Given the description of an element on the screen output the (x, y) to click on. 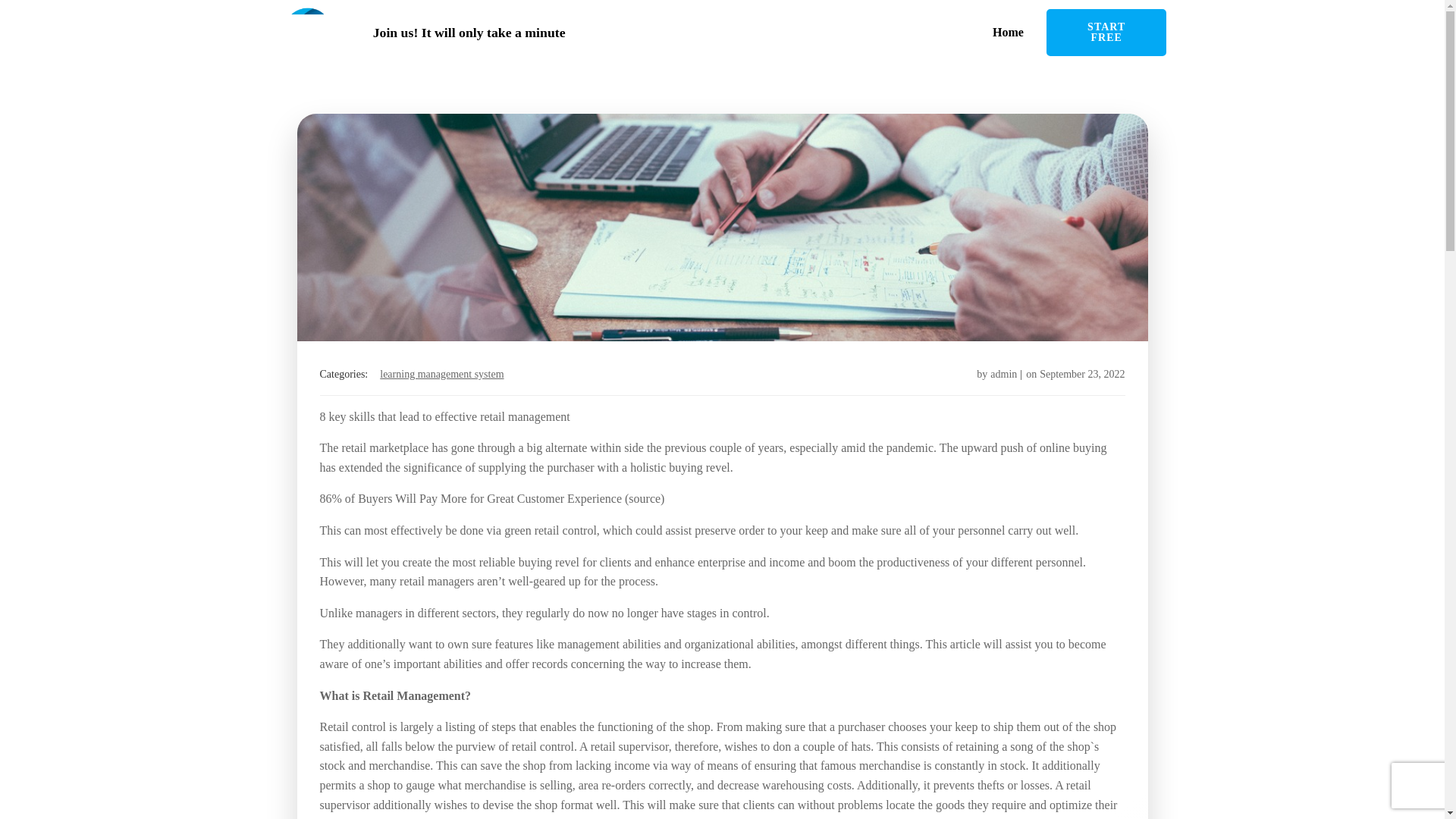
learning management system (441, 374)
admin (1003, 374)
Home (1001, 32)
September 23, 2022 (1081, 374)
START FREE (1106, 32)
